Given the description of an element on the screen output the (x, y) to click on. 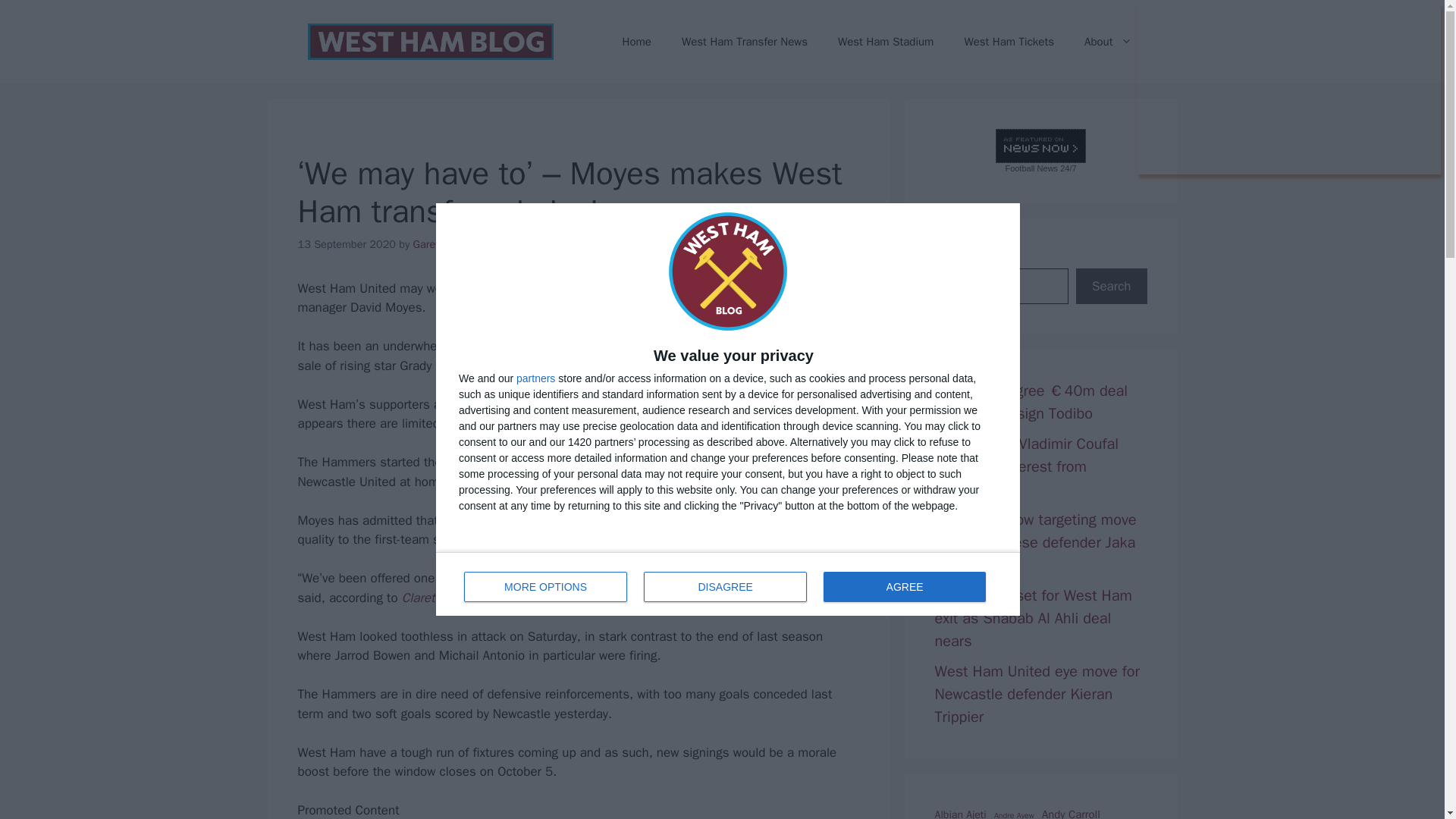
Gareth McKnight (453, 243)
AGREE (904, 586)
partners (535, 378)
Home (636, 41)
Albian Ajeti (959, 812)
Andre Ayew (1013, 814)
View all posts by Gareth McKnight (453, 243)
Claret and Hugh (447, 597)
MORE OPTIONS (545, 586)
